Given the description of an element on the screen output the (x, y) to click on. 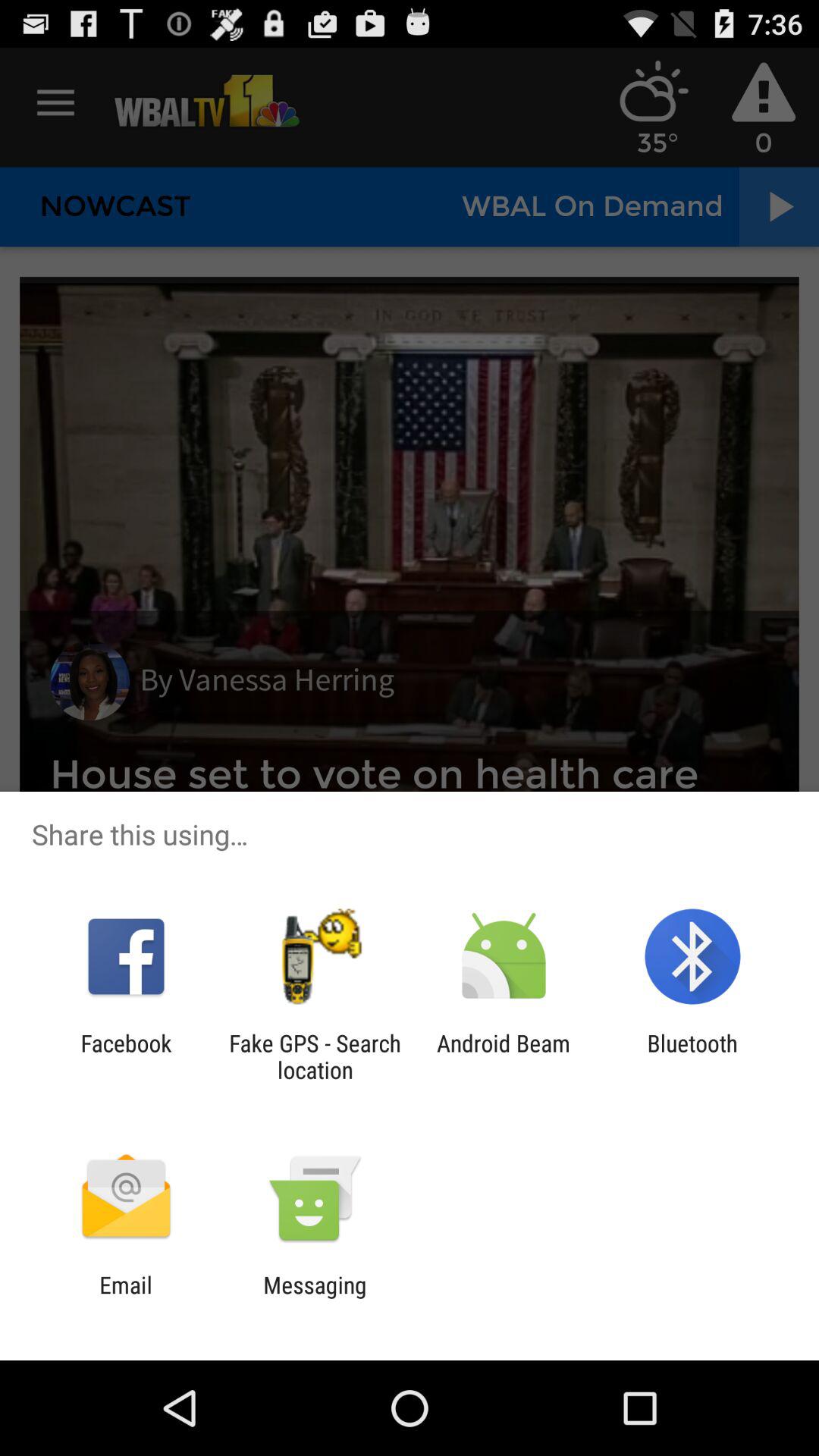
launch icon next to messaging (125, 1298)
